Given the description of an element on the screen output the (x, y) to click on. 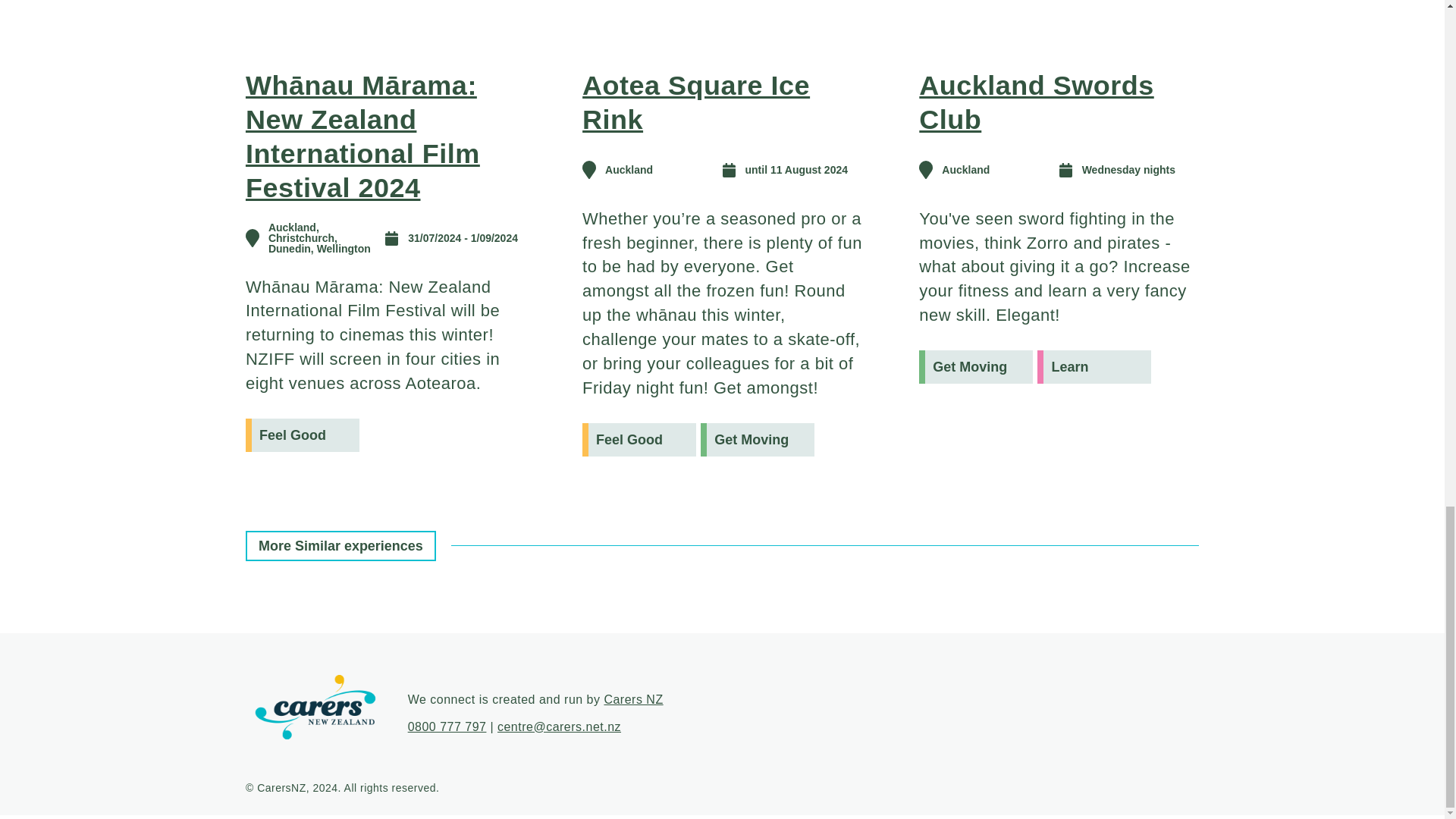
Auckland Swords Club (1035, 102)
More Similar experiences (340, 545)
0800 777 797 (446, 726)
Feel Good (638, 439)
Aotea Square Ice Rink (695, 102)
Get Moving (756, 439)
Permanent Link to Auckland Swords Club (1035, 102)
Get Moving (975, 367)
Feel Good (302, 435)
Carers NZ (633, 698)
